Given the description of an element on the screen output the (x, y) to click on. 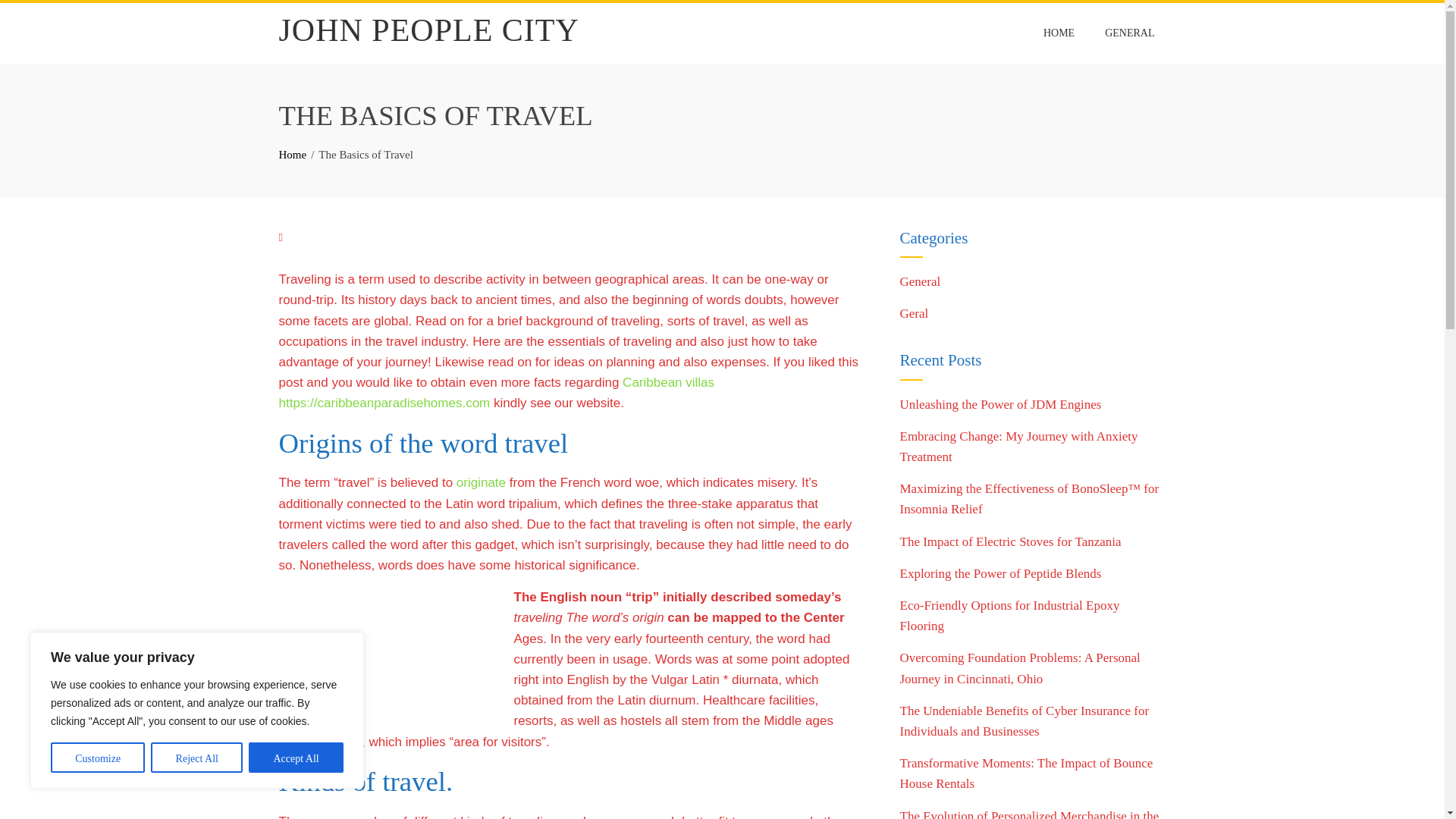
General (919, 281)
Unleashing the Power of JDM Engines (999, 404)
JOHN PEOPLE CITY (429, 30)
originate (481, 482)
Exploring the Power of Peptide Blends (999, 573)
HOME (1059, 32)
Accept All (295, 757)
GENERAL (1129, 32)
The Impact of Electric Stoves for Tanzania (1010, 541)
Eco-Friendly Options for Industrial Epoxy Flooring (1009, 615)
Geral (913, 313)
Customize (97, 757)
